Given the description of an element on the screen output the (x, y) to click on. 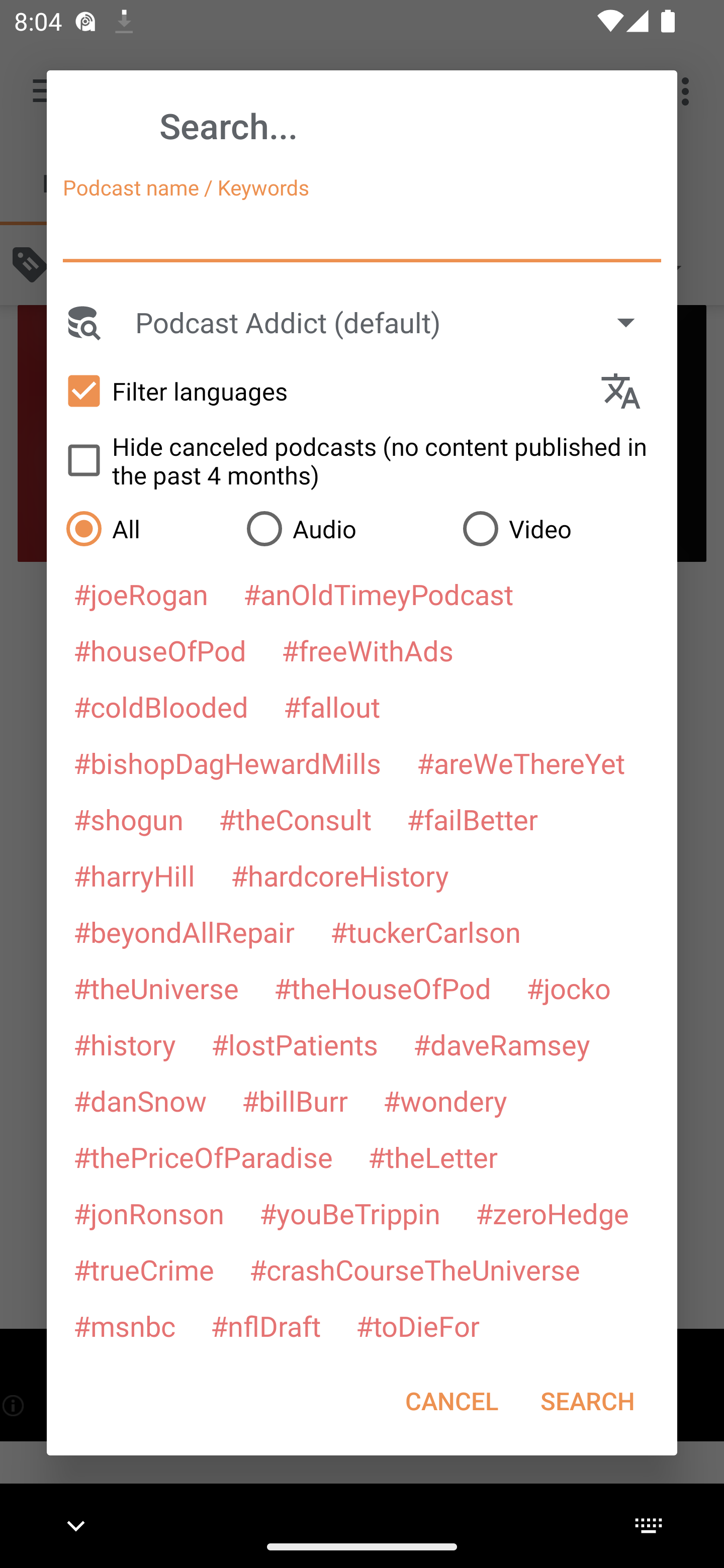
Podcast name / Keywords (361, 234)
Search Engine (82, 322)
Podcast Addict (default) (394, 322)
Languages selection (629, 390)
Filter languages (322, 390)
All (145, 528)
Audio (344, 528)
Video (560, 528)
#joeRogan (140, 594)
#anOldTimeyPodcast (378, 594)
#houseOfPod (159, 650)
#freeWithAds (367, 650)
#coldBlooded (160, 705)
#fallout (331, 705)
#bishopDagHewardMills (227, 762)
#areWeThereYet (521, 762)
#shogun (128, 818)
#theConsult (294, 818)
#failBetter (471, 818)
#harryHill (134, 875)
#hardcoreHistory (339, 875)
#beyondAllRepair (184, 931)
#tuckerCarlson (425, 931)
#theUniverse (155, 987)
#theHouseOfPod (381, 987)
#jocko (568, 987)
#history (124, 1044)
#lostPatients (294, 1044)
#daveRamsey (501, 1044)
#danSnow (139, 1100)
#billBurr (294, 1100)
#wondery (444, 1100)
#thePriceOfParadise (203, 1157)
#theLetter (432, 1157)
#jonRonson (148, 1213)
#youBeTrippin (349, 1213)
#zeroHedge (552, 1213)
#trueCrime (143, 1268)
#crashCourseTheUniverse (414, 1268)
#msnbc (124, 1325)
#nflDraft (265, 1325)
#toDieFor (417, 1325)
CANCEL (451, 1400)
SEARCH (587, 1400)
